Given the description of an element on the screen output the (x, y) to click on. 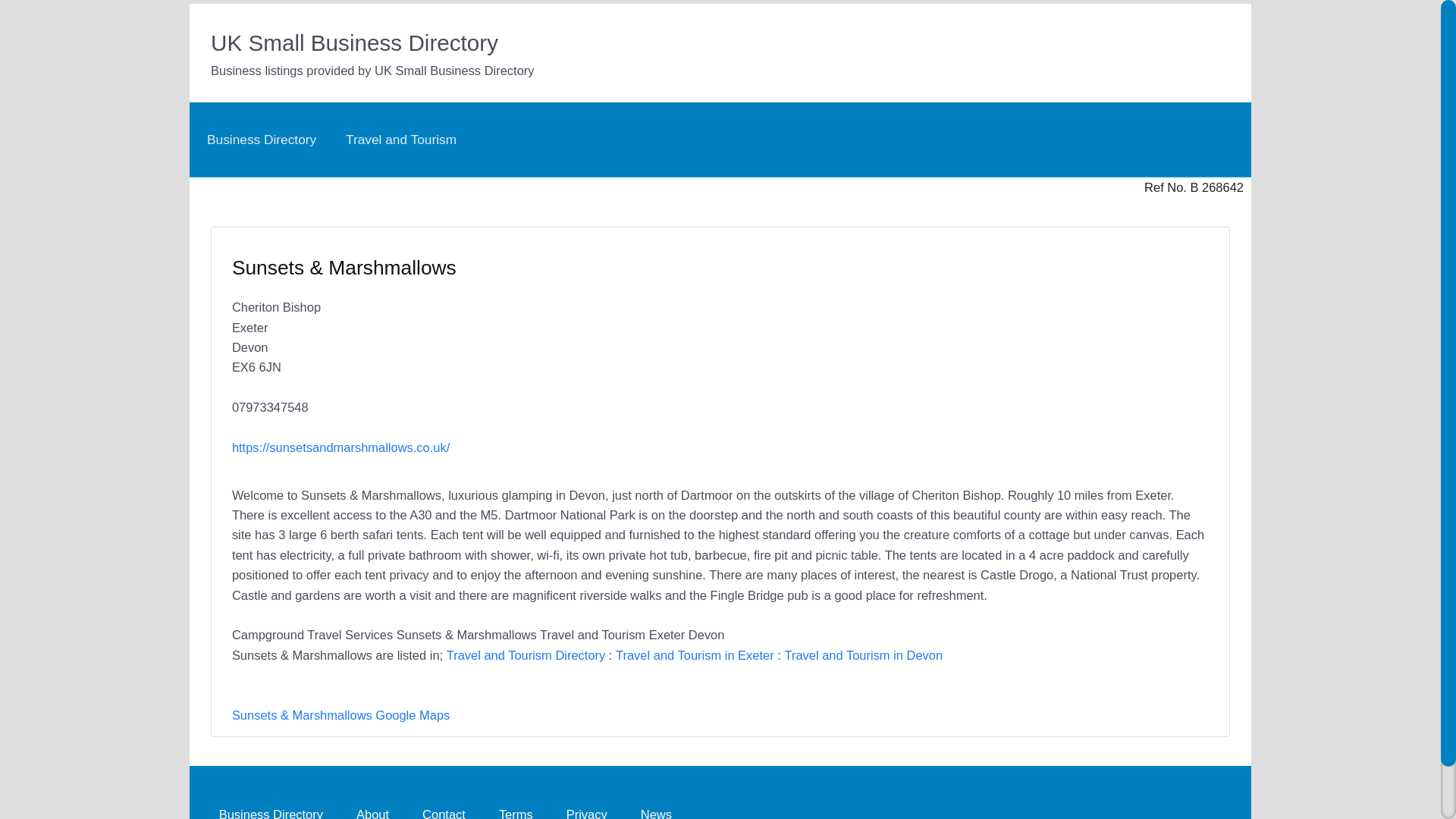
Travel and Tourism in Devon (863, 654)
Contact (444, 807)
About (372, 807)
Terms (515, 807)
Travel and Tourism in Exeter (694, 654)
Business Directory (261, 139)
Travel and Tourism Directory (525, 654)
Business Directory (270, 807)
Privacy (586, 807)
News (656, 807)
Travel and Tourism (400, 139)
